Given the description of an element on the screen output the (x, y) to click on. 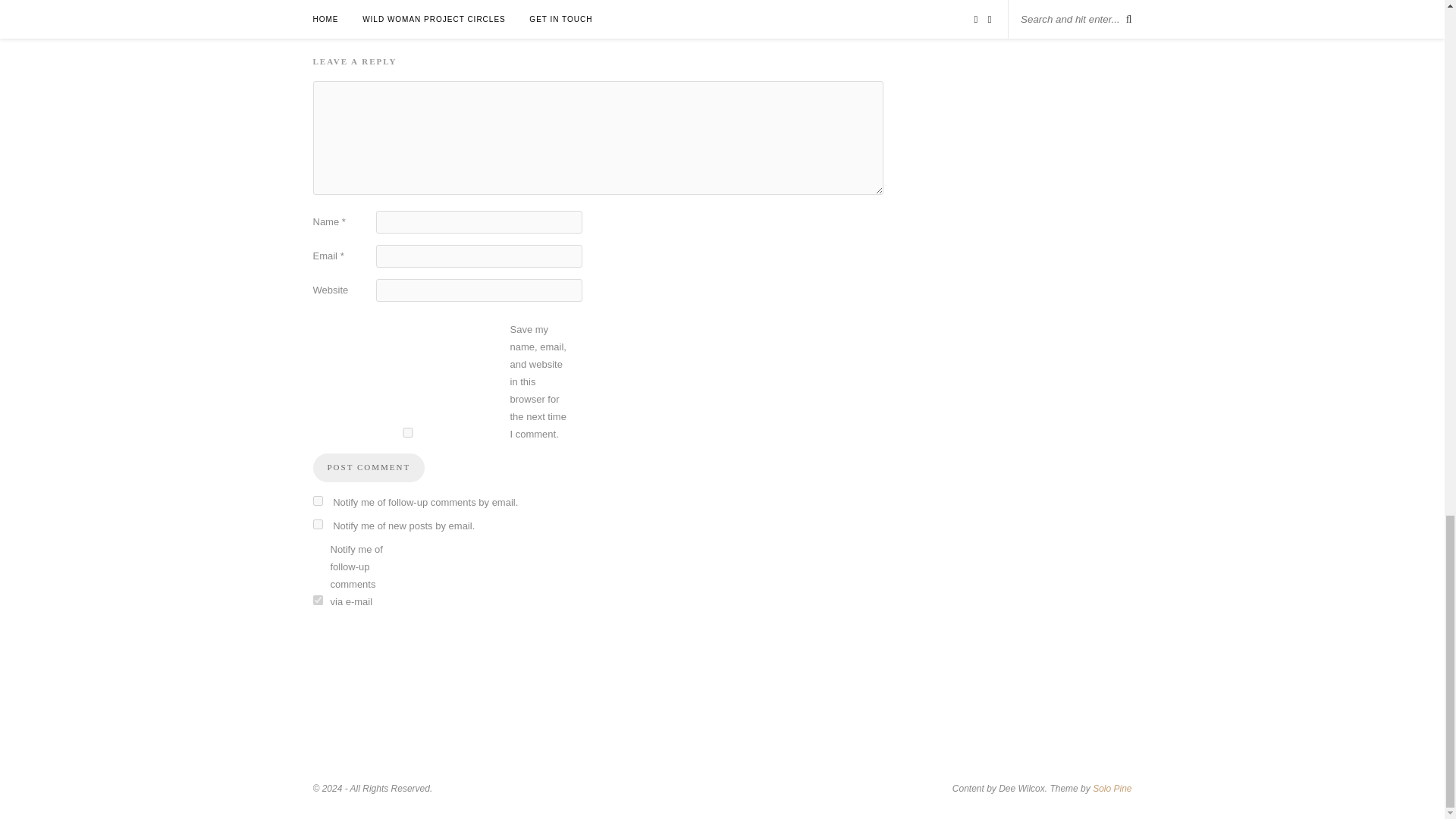
subscribe (317, 524)
Post Comment (369, 467)
yes (407, 432)
subscribe (317, 501)
Post Comment (369, 467)
